Given the description of an element on the screen output the (x, y) to click on. 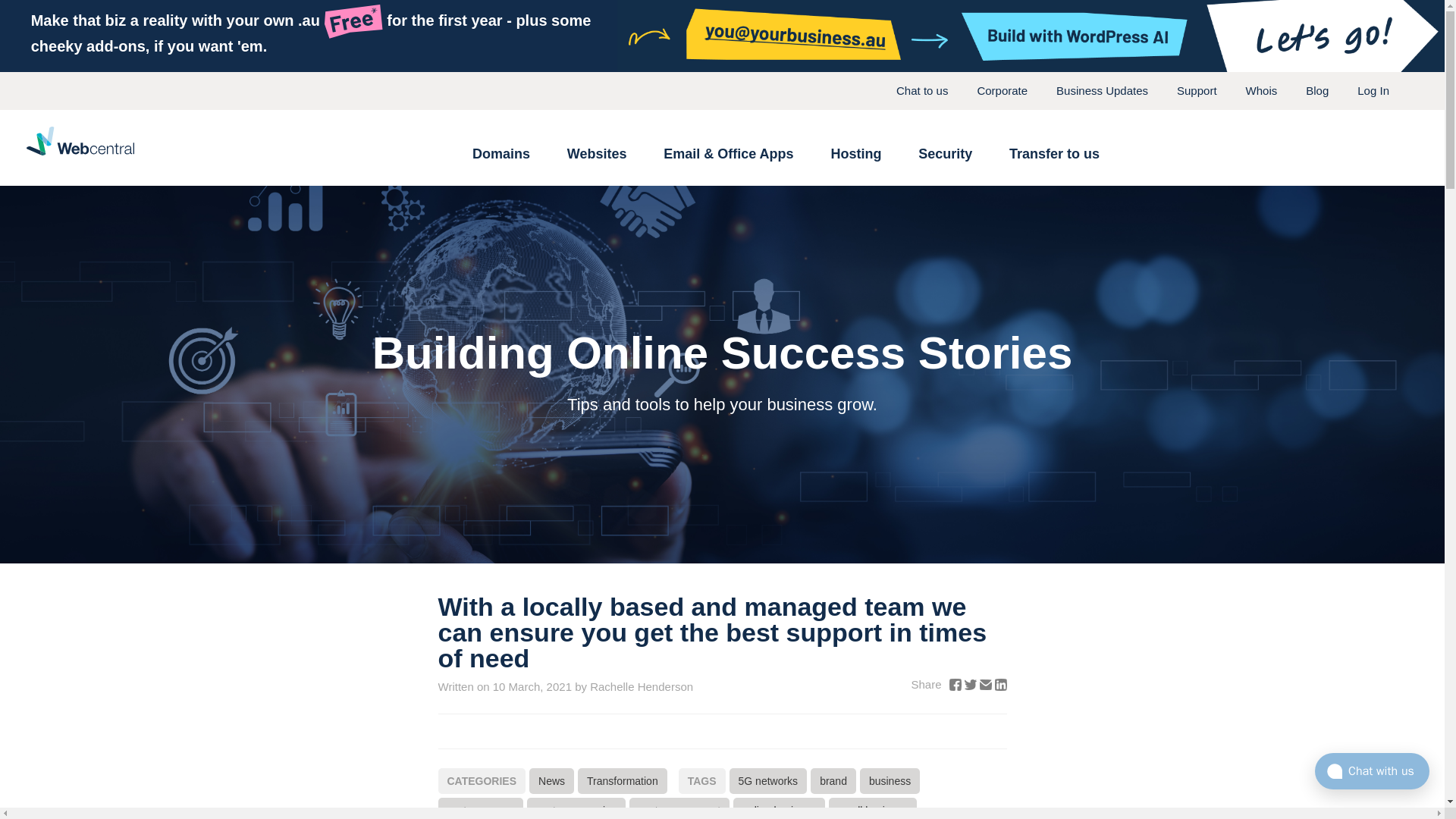
Websites (597, 153)
